Given the description of an element on the screen output the (x, y) to click on. 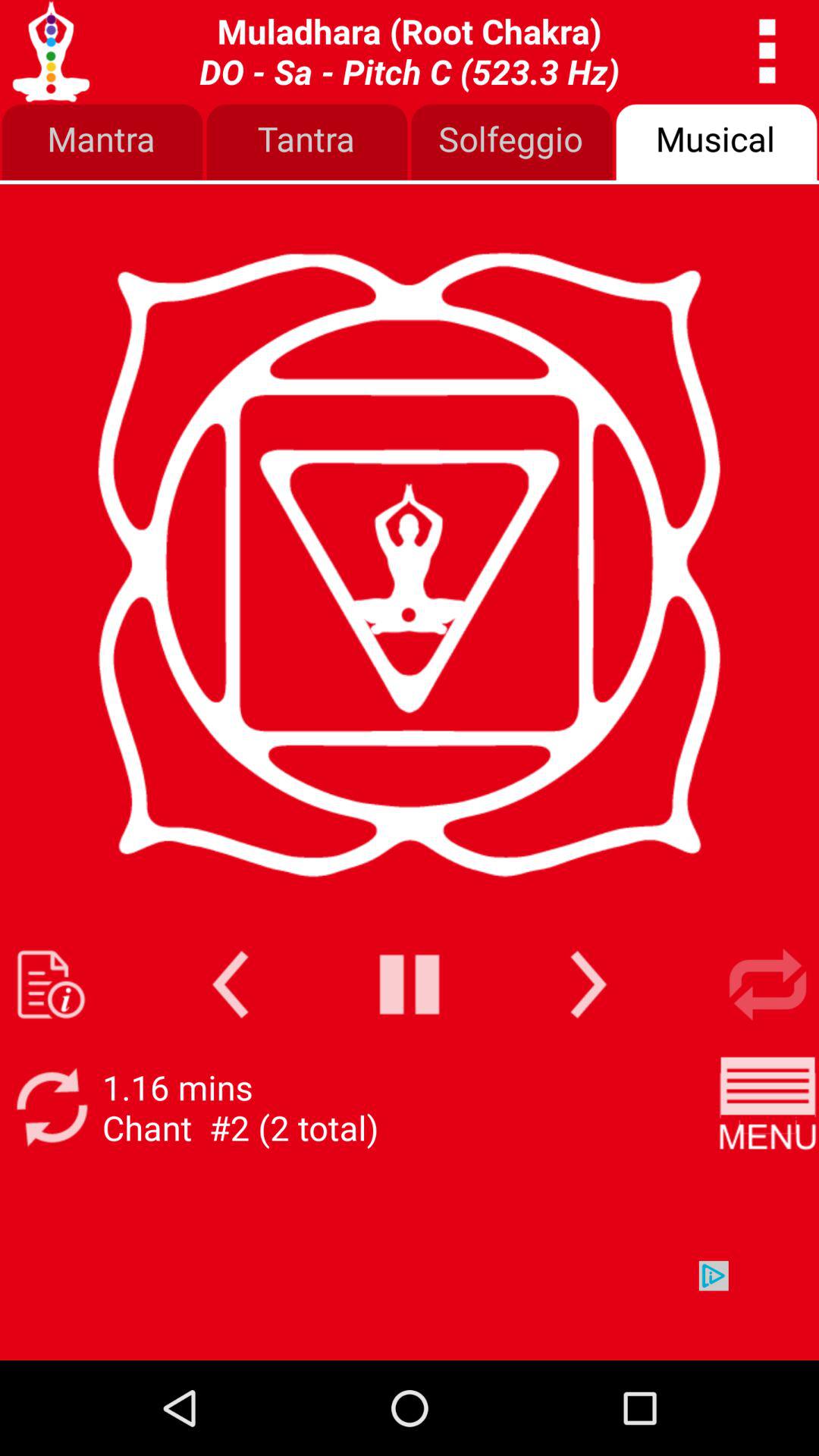
toggle repeat (767, 984)
